Given the description of an element on the screen output the (x, y) to click on. 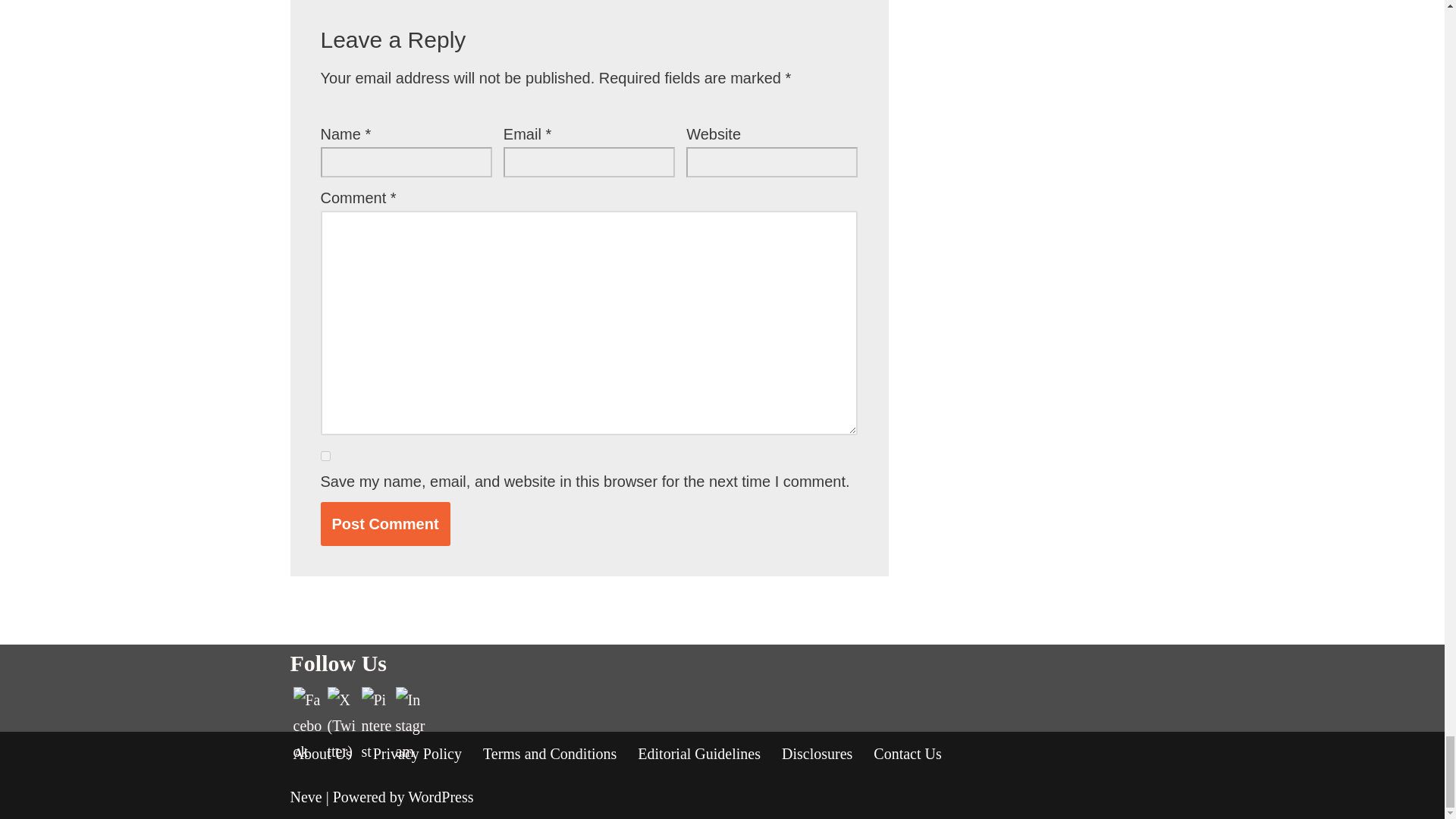
Post Comment (384, 523)
yes (325, 456)
Post Comment (384, 523)
